Given the description of an element on the screen output the (x, y) to click on. 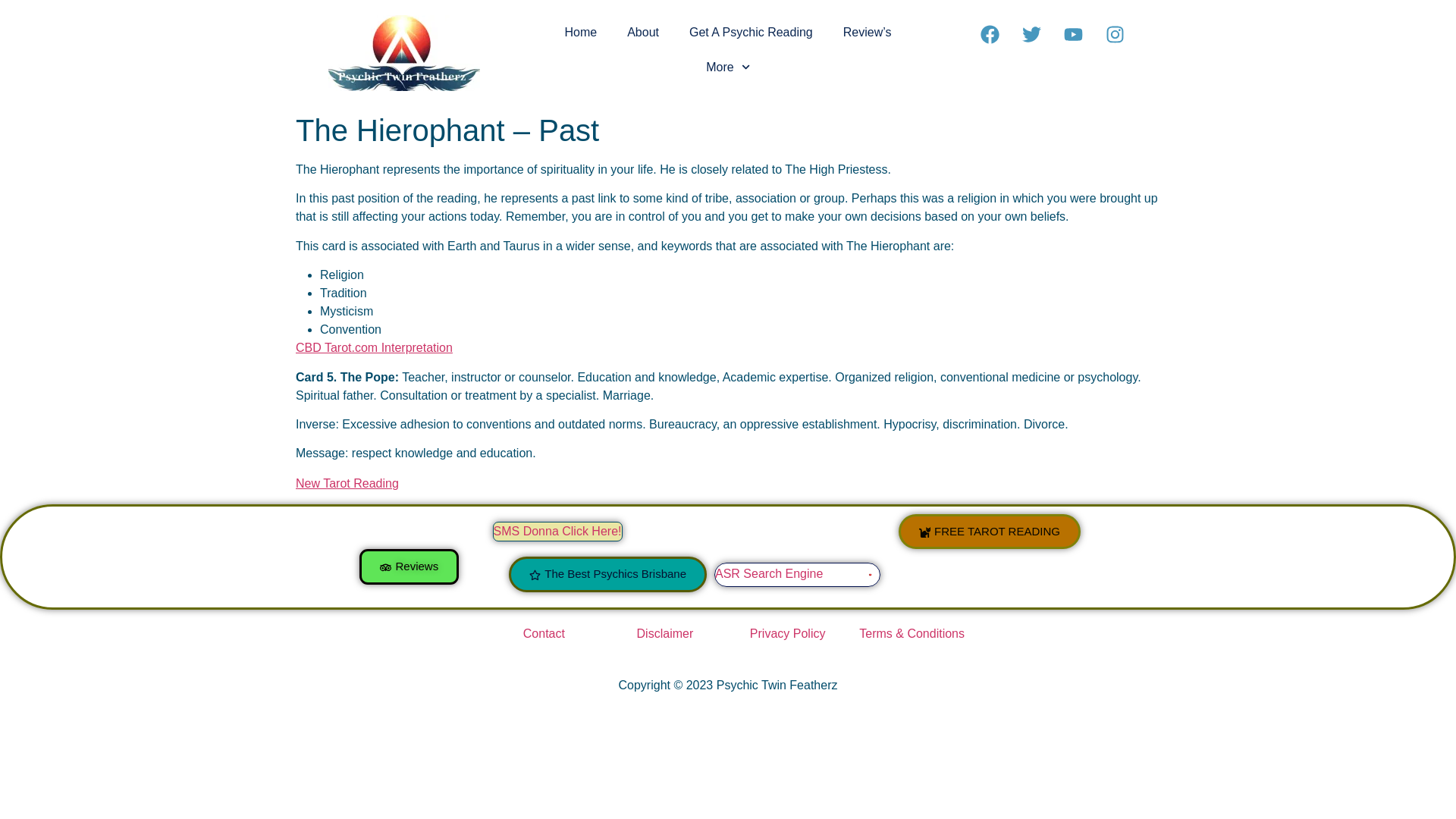
New Tarot Reading (346, 482)
More (727, 67)
Home (579, 32)
PSYCHIC Twin Featherz (853, 574)
About (642, 32)
SMS Donna Click Here! (557, 530)
Get A Psychic Reading (751, 32)
CBD Tarot.com Interpretation (373, 347)
